Given the description of an element on the screen output the (x, y) to click on. 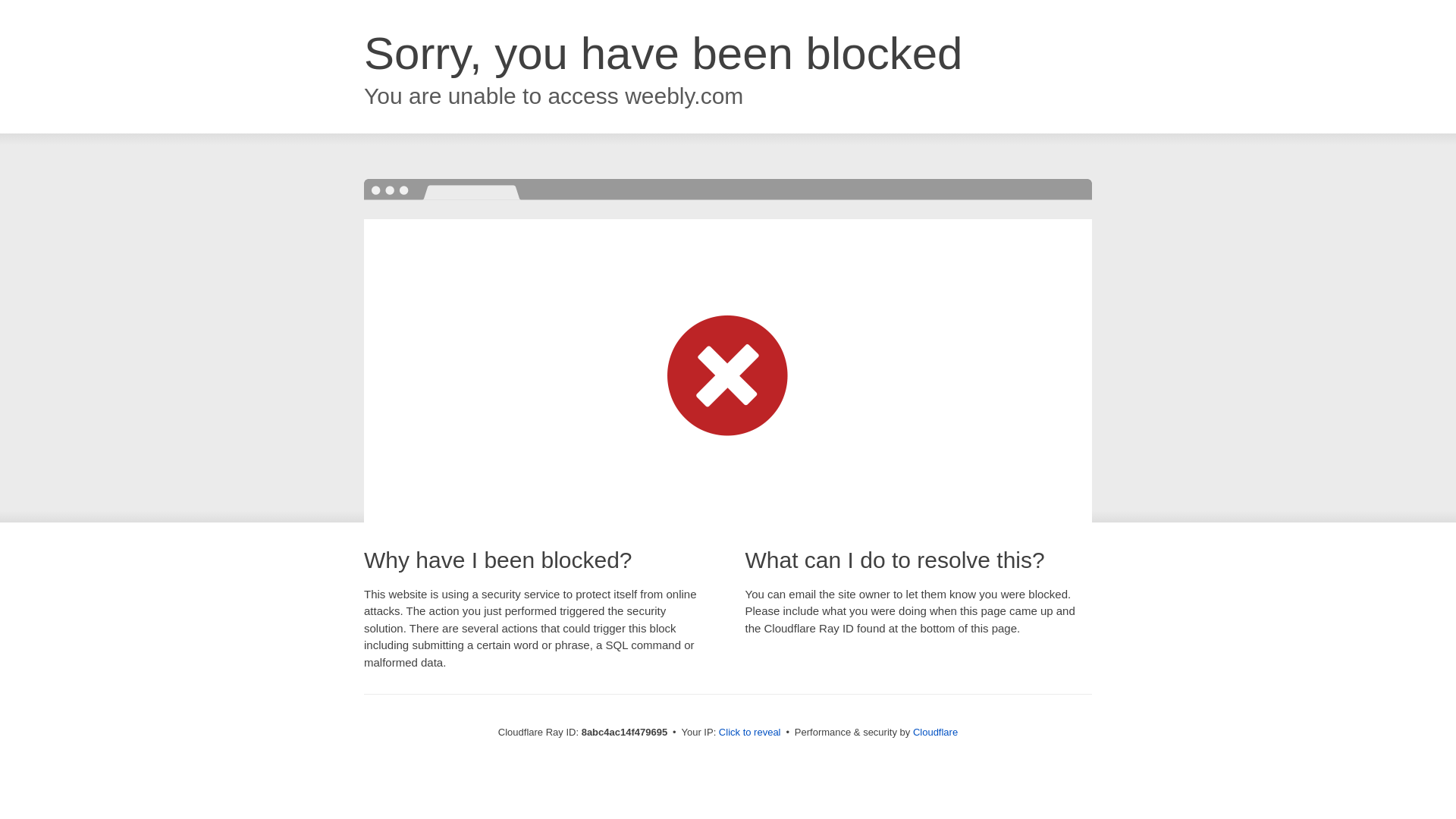
Cloudflare (935, 731)
Click to reveal (749, 732)
